Given the description of an element on the screen output the (x, y) to click on. 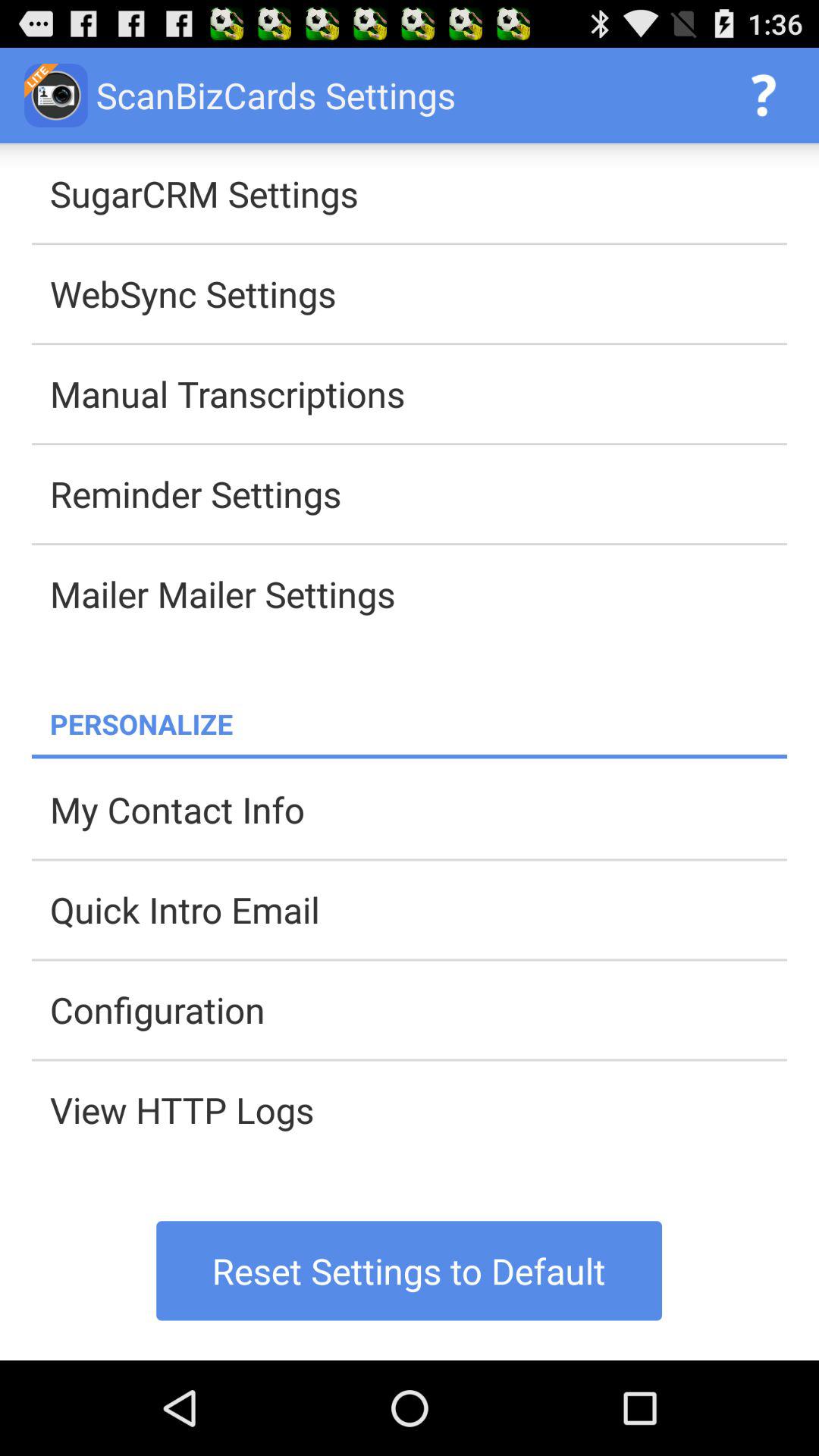
tap the item below the personalize (409, 756)
